Given the description of an element on the screen output the (x, y) to click on. 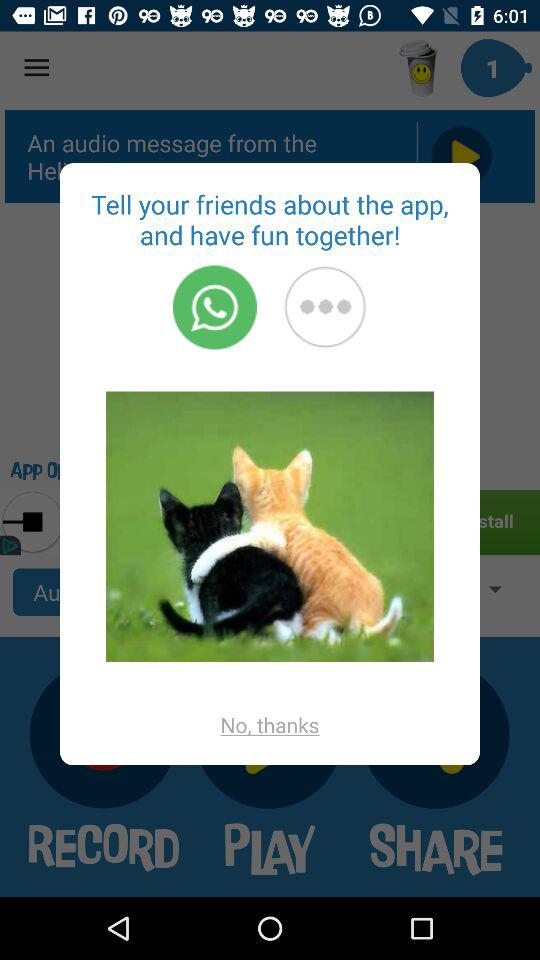
select the mose option (325, 307)
